Given the description of an element on the screen output the (x, y) to click on. 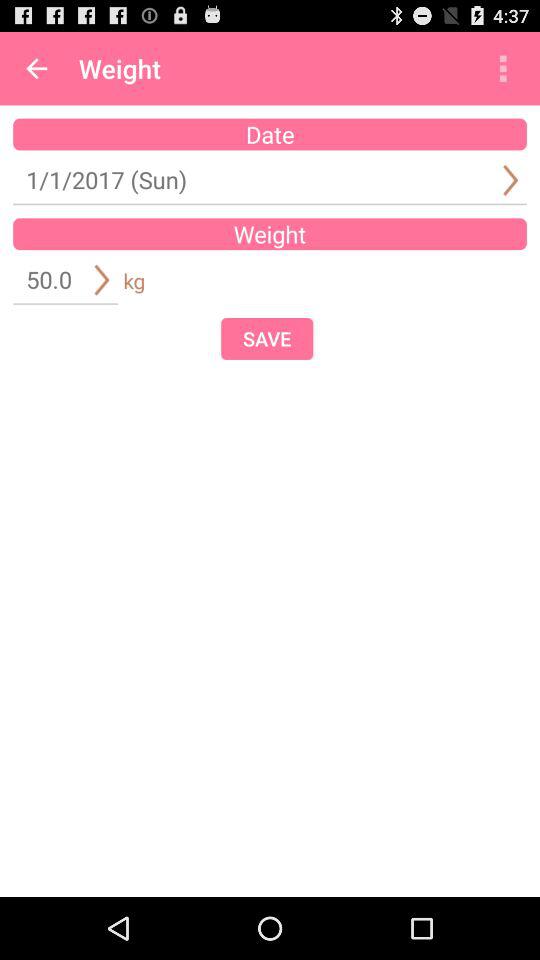
select save (267, 338)
